Given the description of an element on the screen output the (x, y) to click on. 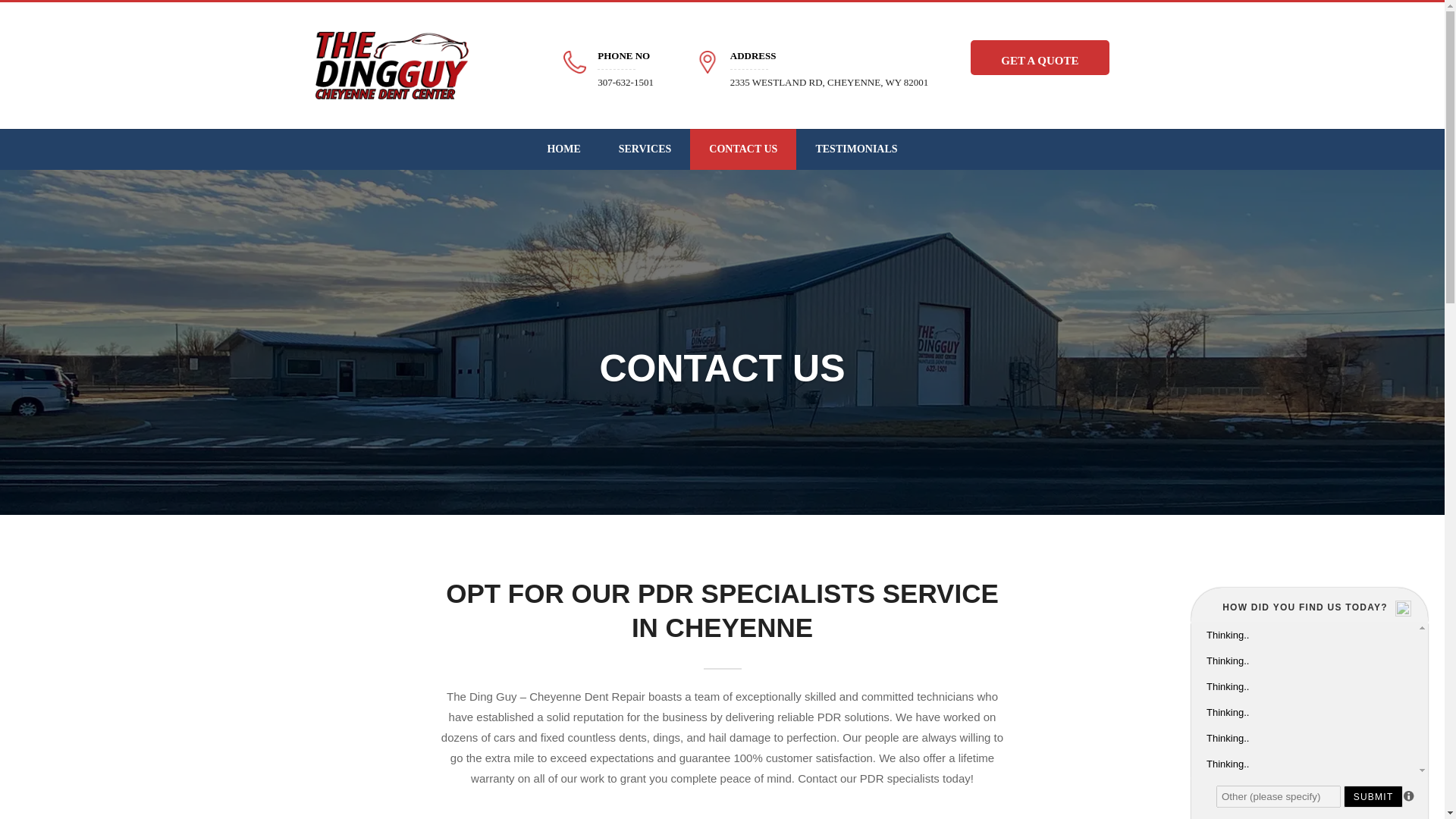
SERVICES (644, 149)
GET A QUOTE (1051, 57)
Survey: How did you find our site? (1309, 699)
CONTACT US (823, 61)
TESTIMONIALS (743, 149)
HOME (855, 149)
Skip to content (563, 149)
